Given the description of an element on the screen output the (x, y) to click on. 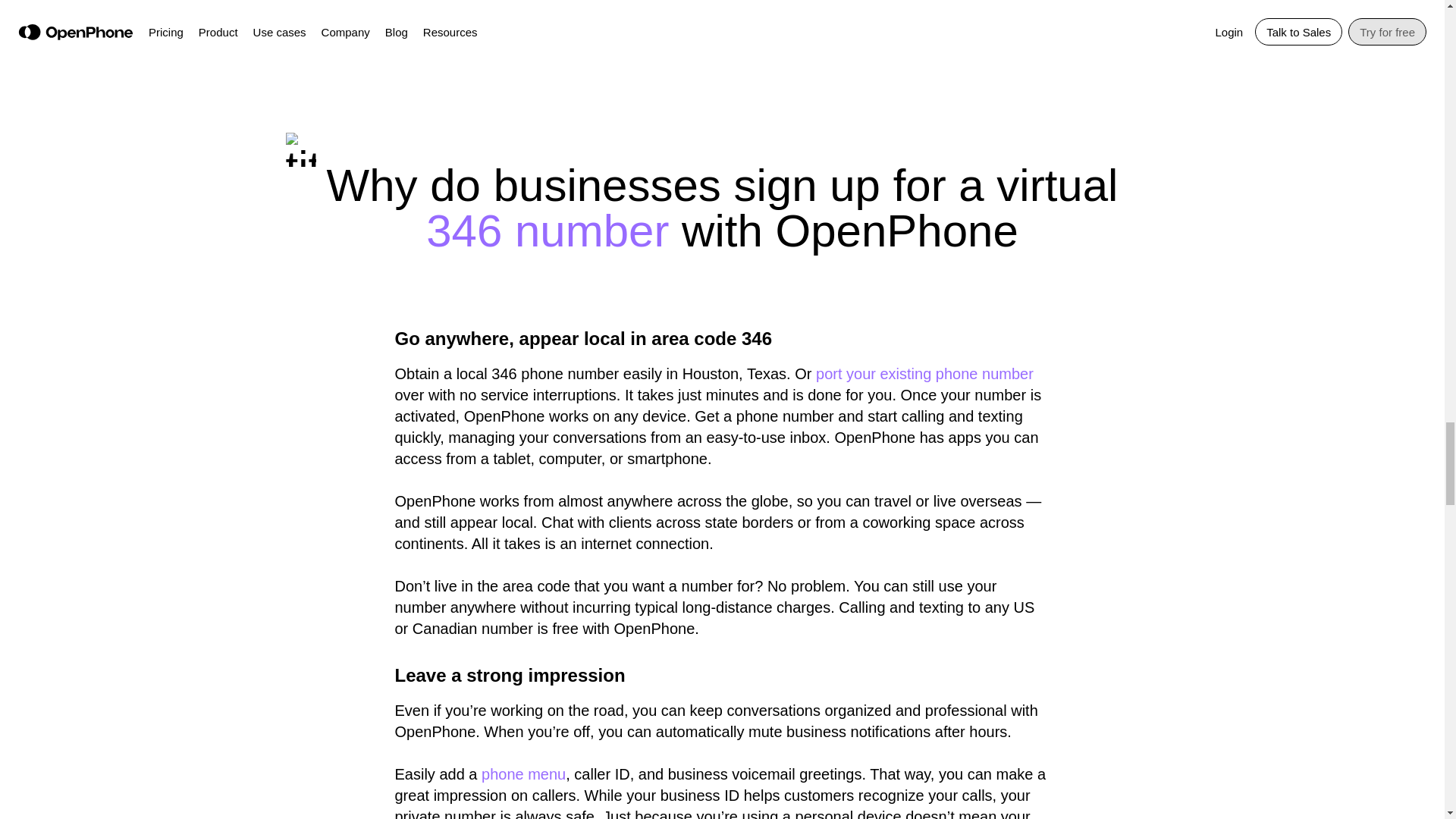
phone menu (523, 773)
port your existing phone number (924, 373)
